Given the description of an element on the screen output the (x, y) to click on. 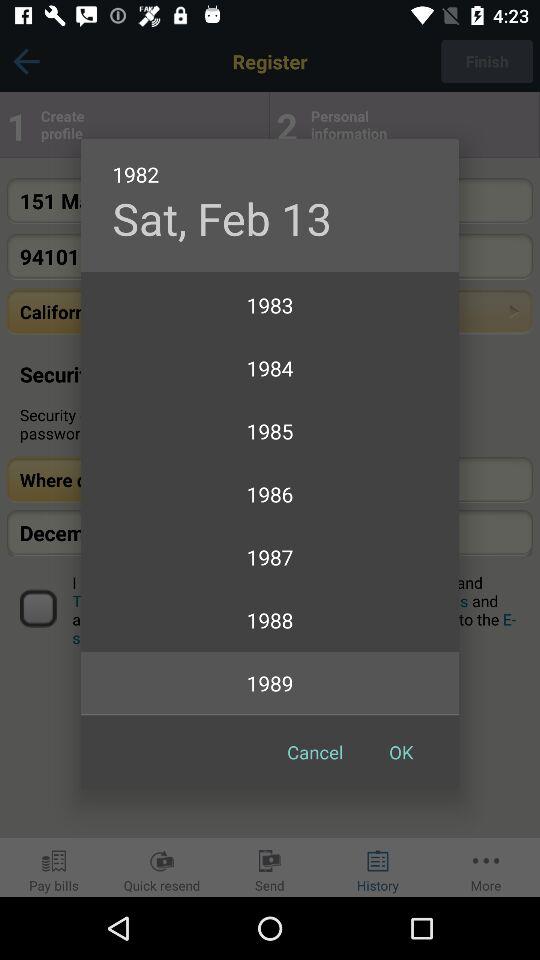
select item below the 1990 app (401, 751)
